Given the description of an element on the screen output the (x, y) to click on. 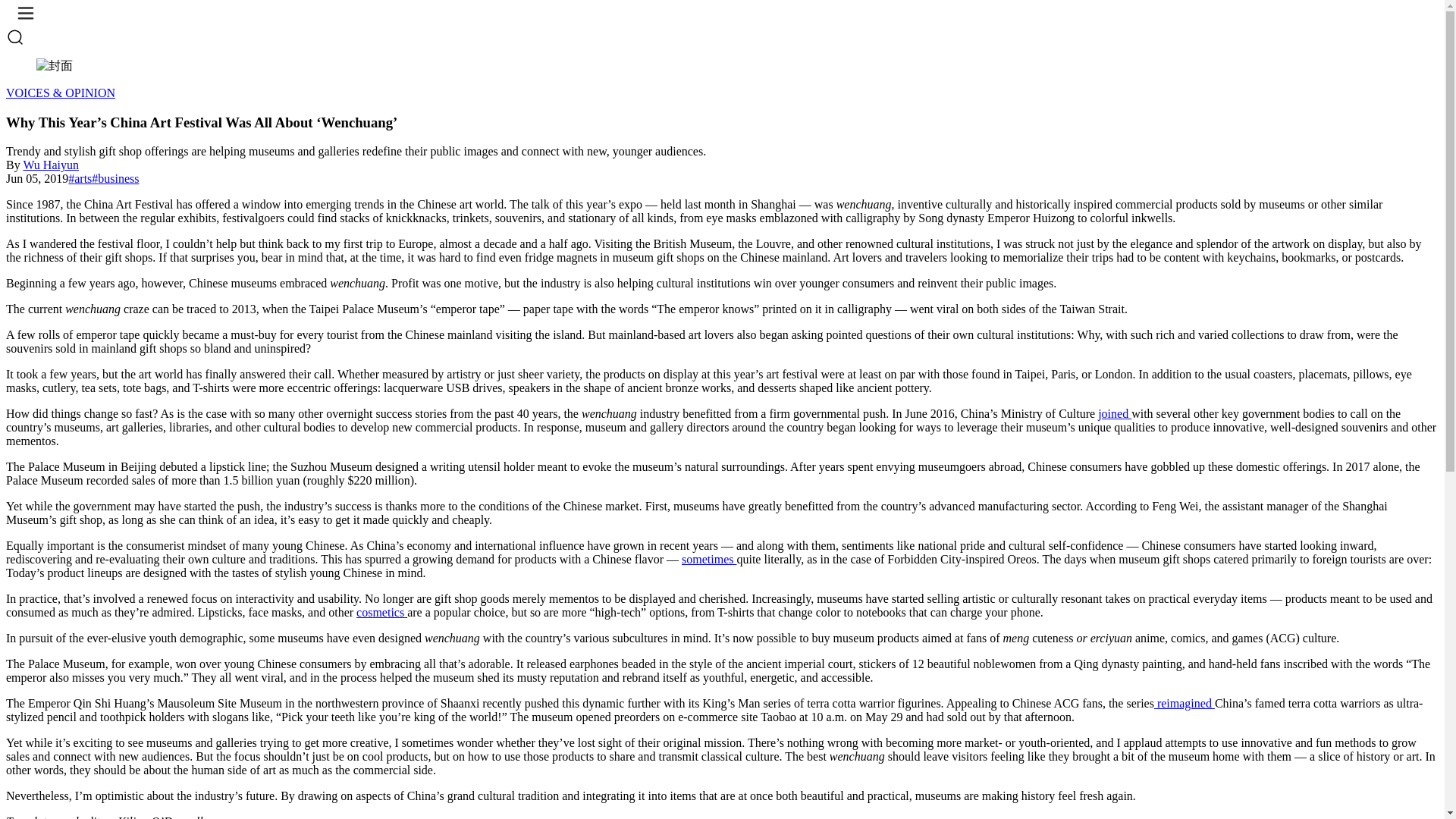
joined (1114, 413)
reimagined (1184, 703)
cosmetics (381, 612)
sometimes (708, 558)
Wu Haiyun (50, 164)
